Given the description of an element on the screen output the (x, y) to click on. 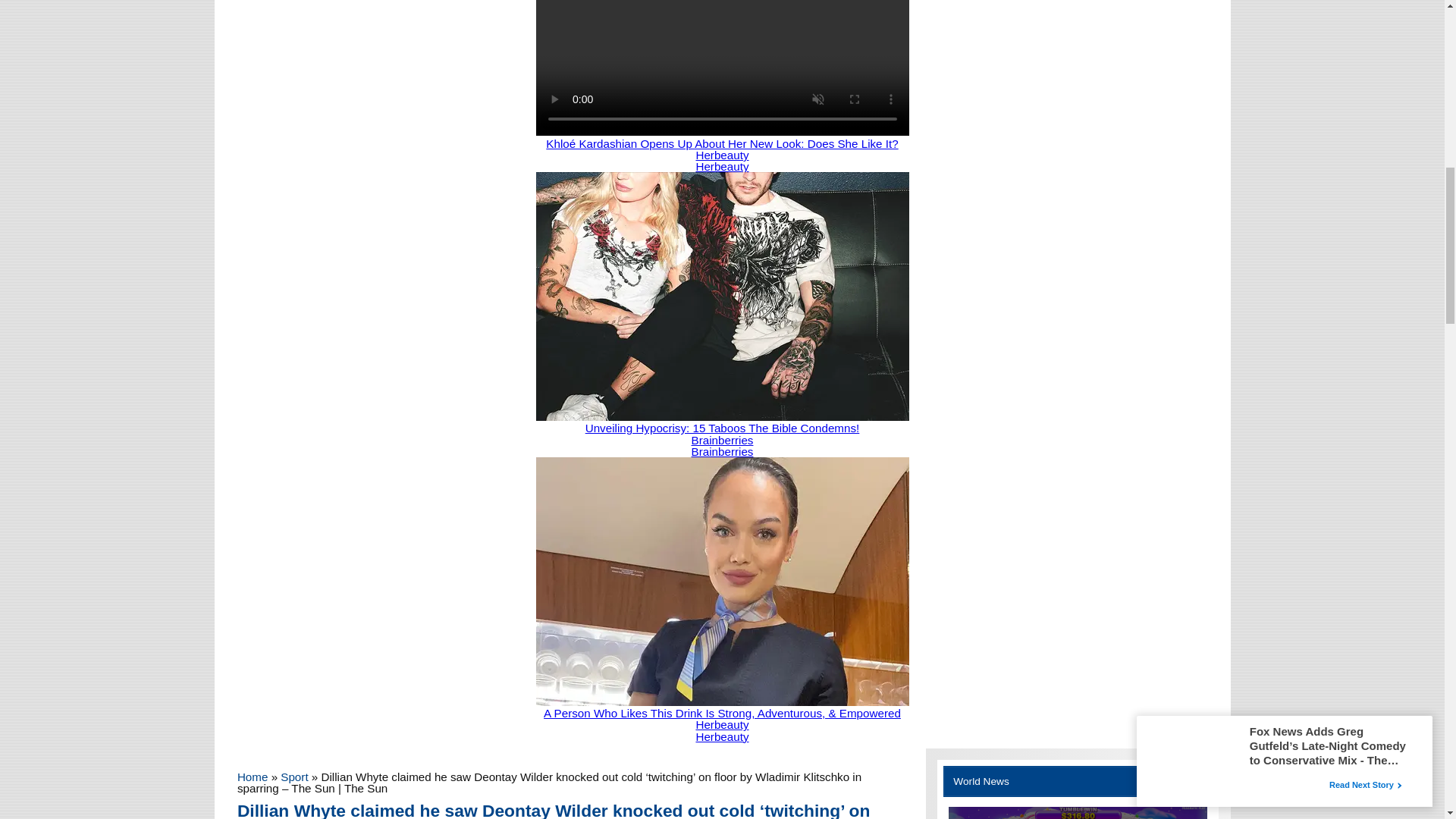
Home (252, 776)
Sport (294, 776)
